Given the description of an element on the screen output the (x, y) to click on. 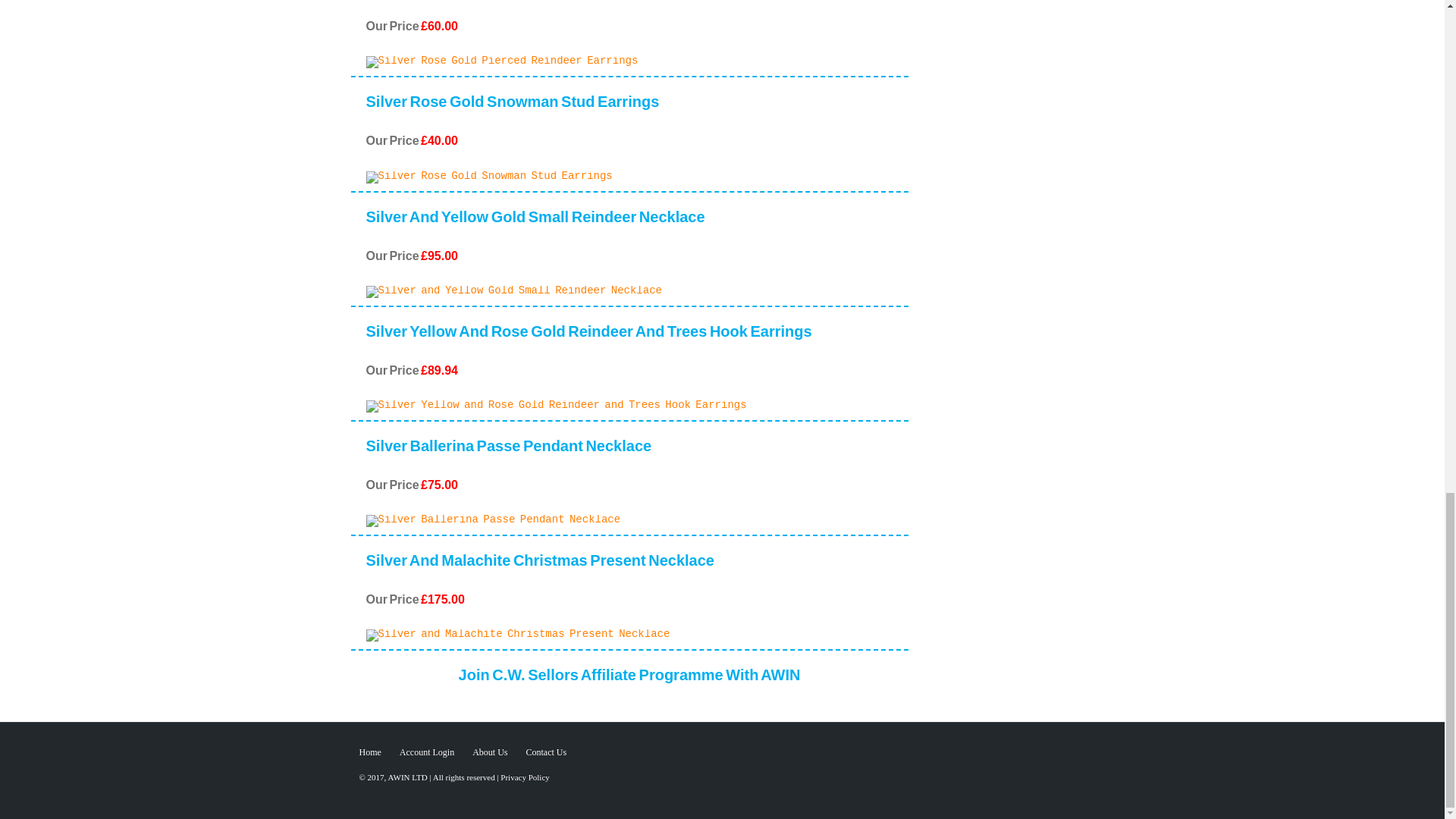
Silver Ballerina Passe Pendant Necklace (507, 451)
Silver Yellow And Rose Gold Reindeer And Trees Hook Earrings (587, 336)
Join C.W. Sellors Affiliate Programme With AWIN (629, 680)
Silver Rose Gold Snowman Stud Earrings (512, 107)
Silver And Malachite Christmas Present Necklace (539, 565)
Silver And Yellow Gold Small Reindeer Necklace (534, 222)
Silver Rose Gold Pierced Reindeer Earrings (518, 3)
